Given the description of an element on the screen output the (x, y) to click on. 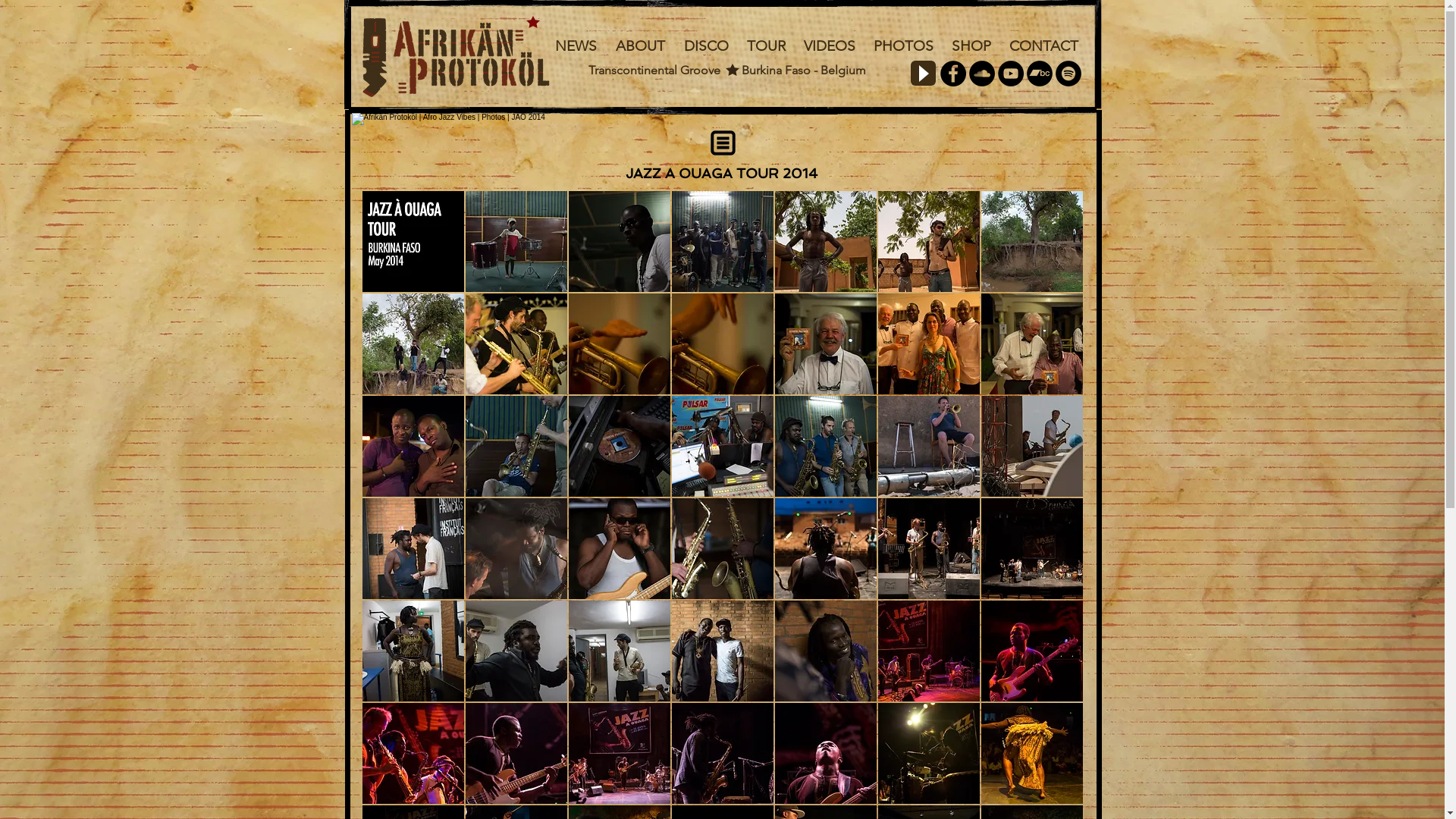
SHOP Element type: text (970, 45)
TOUR Element type: text (765, 45)
NEWS Element type: text (576, 45)
DISCO Element type: text (705, 45)
CONTACT Element type: text (1042, 45)
PHOTOS Element type: text (903, 45)
VIDEOS Element type: text (829, 45)
ABOUT Element type: text (640, 45)
